Given the description of an element on the screen output the (x, y) to click on. 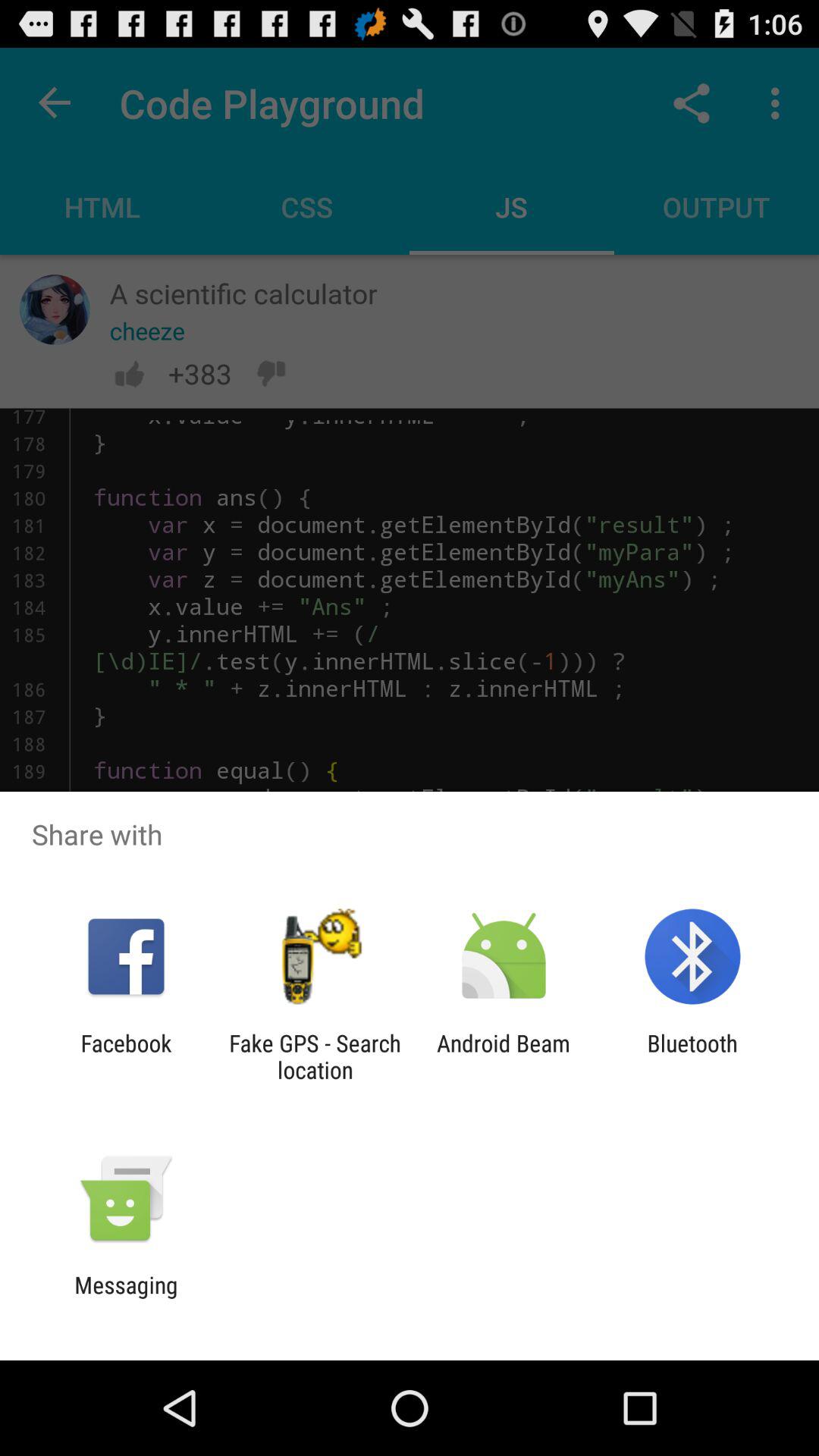
open the bluetooth app (692, 1056)
